Given the description of an element on the screen output the (x, y) to click on. 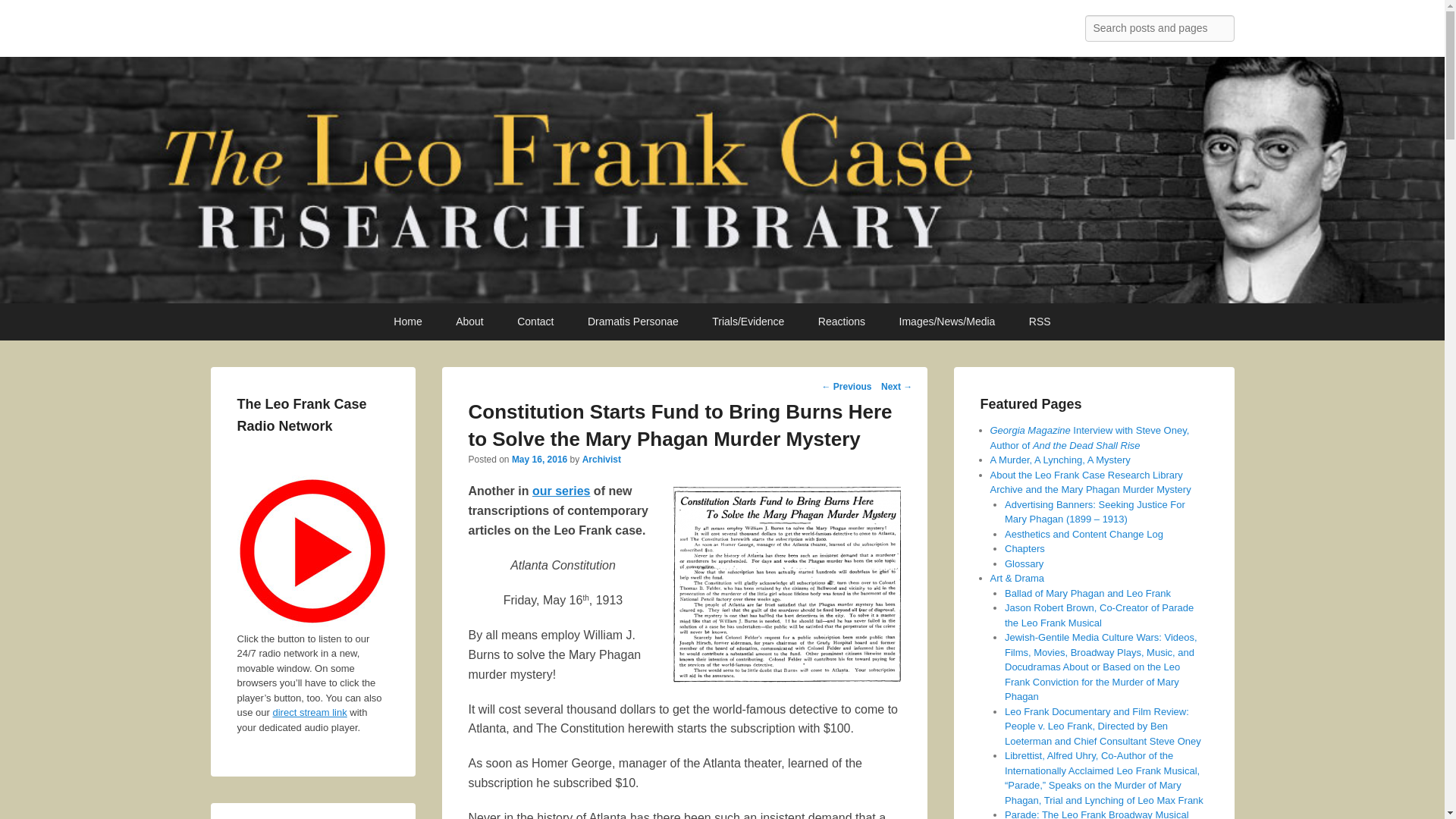
Contact (535, 321)
Dramatis Personae (633, 321)
View all posts by Archivist (601, 459)
About (470, 321)
Home (407, 321)
The Leo Frank Case Research Library (455, 31)
The Leo Frank Case Research Library (455, 31)
Search (24, 14)
